Given the description of an element on the screen output the (x, y) to click on. 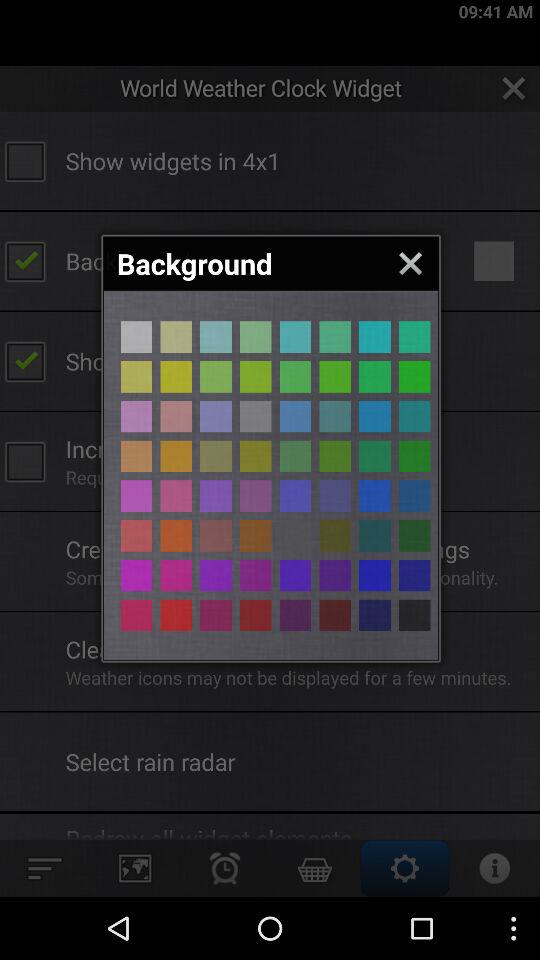
select colour (176, 615)
